Given the description of an element on the screen output the (x, y) to click on. 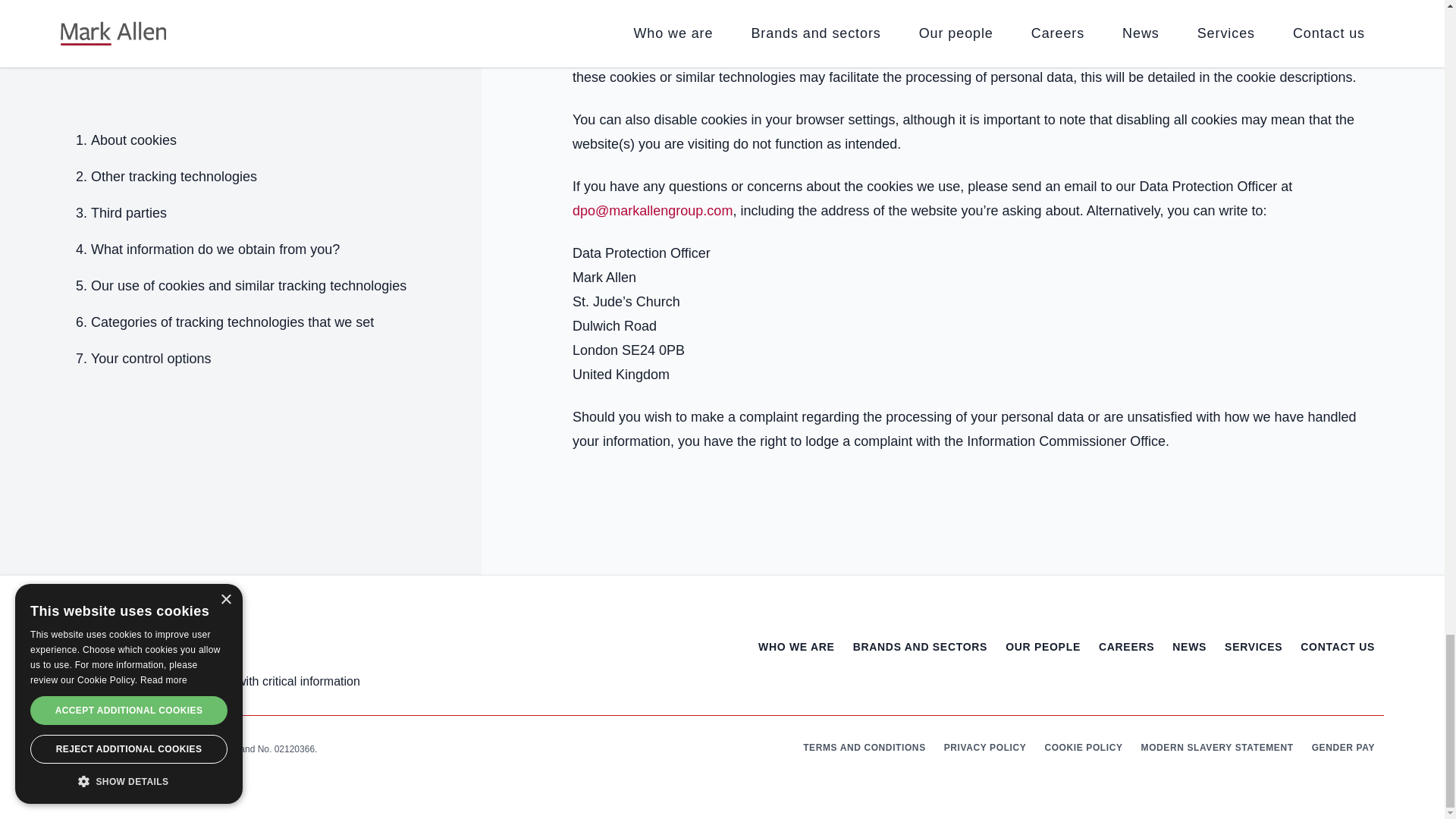
TERMS AND CONDITIONS (864, 749)
SERVICES (1253, 663)
WHO WE ARE (796, 663)
COOKIE POLICY (1082, 749)
PRIVACY POLICY (984, 749)
GENDER PAY (1342, 749)
CONTACT US (1337, 663)
MODERN SLAVERY STATEMENT (1217, 749)
OUR PEOPLE (1043, 663)
BRANDS AND SECTORS (920, 663)
CAREERS (1126, 663)
